Given the description of an element on the screen output the (x, y) to click on. 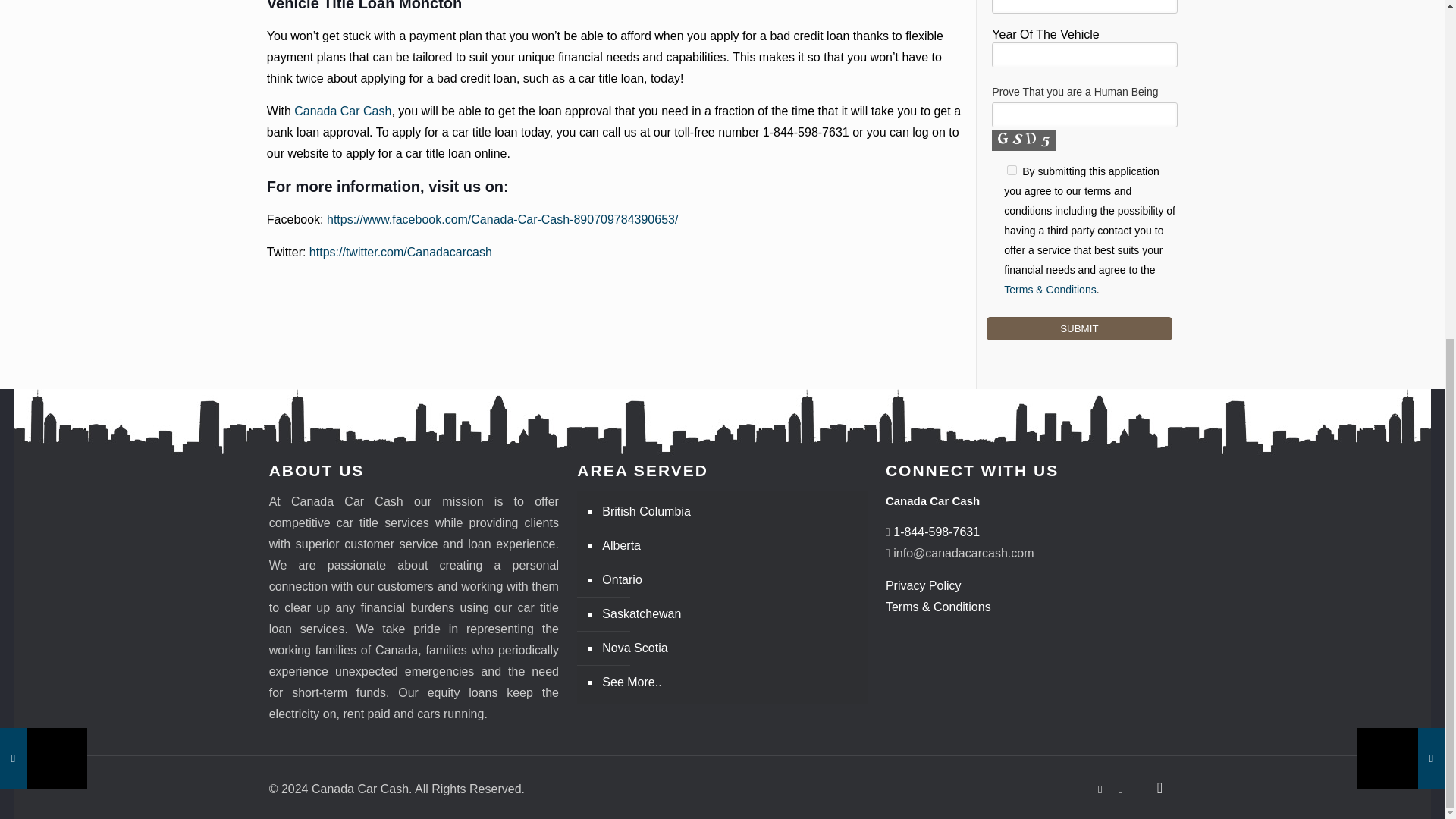
British Columbia (729, 512)
Alberta (729, 546)
SUBMIT (1079, 328)
Canada Car Cash (342, 110)
Twitter (1120, 788)
1 (1011, 170)
Ontario (729, 580)
SUBMIT (1079, 328)
Facebook (1100, 788)
